Given the description of an element on the screen output the (x, y) to click on. 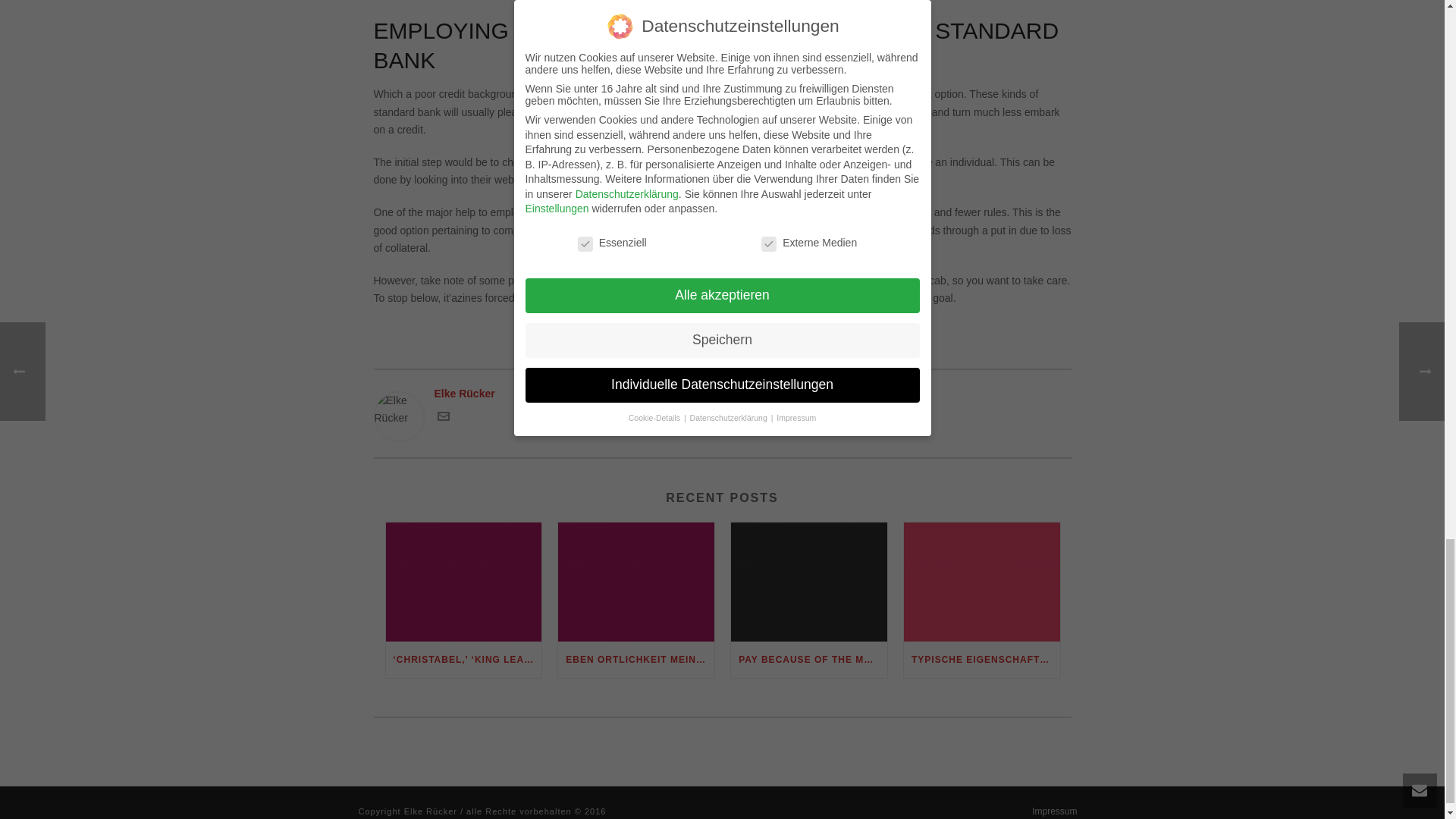
Get in touch with me via email (442, 418)
Impressum (1054, 811)
